Given the description of an element on the screen output the (x, y) to click on. 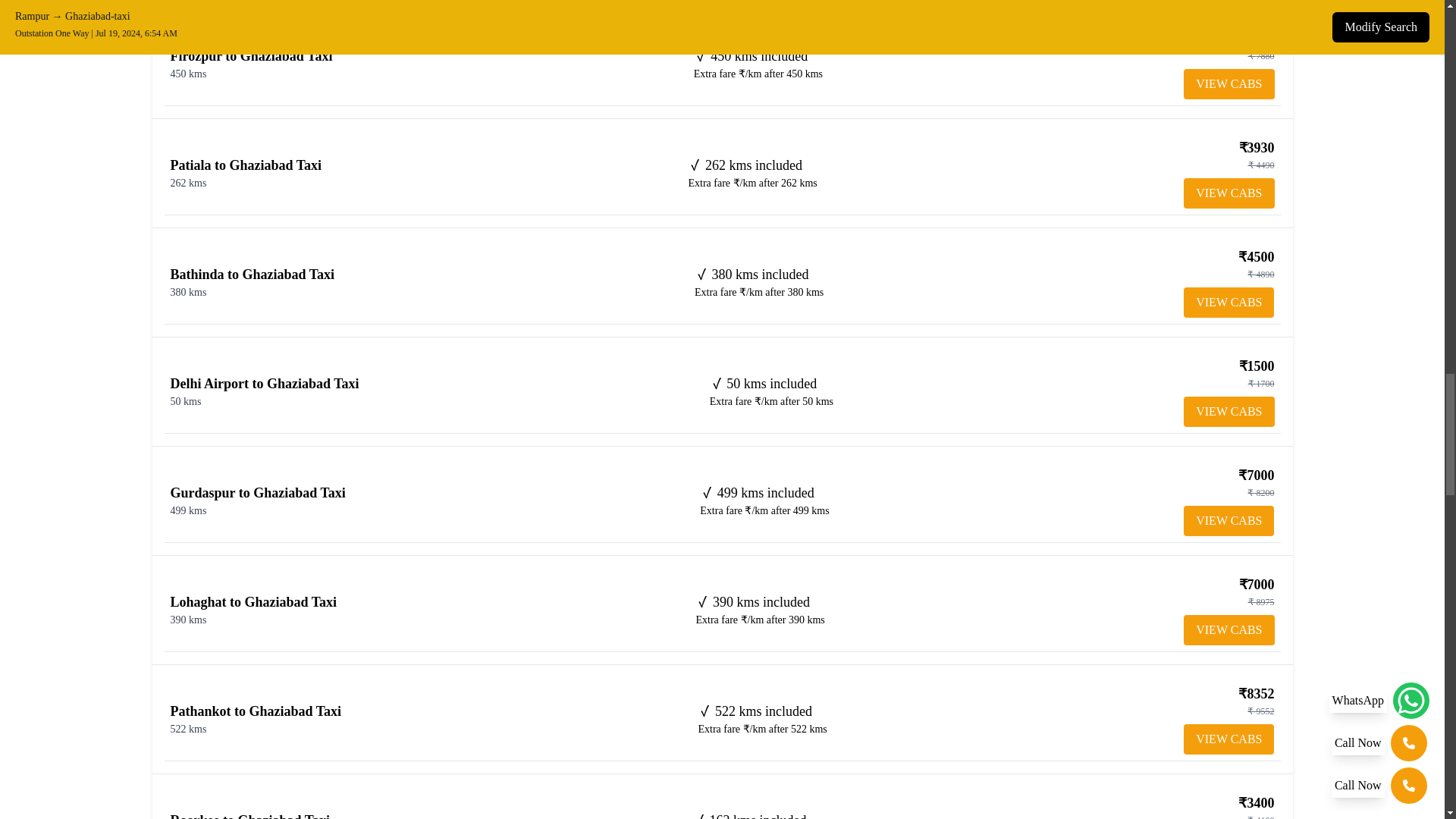
Firozpur to Ghaziabad Taxi (250, 55)
